Given the description of an element on the screen output the (x, y) to click on. 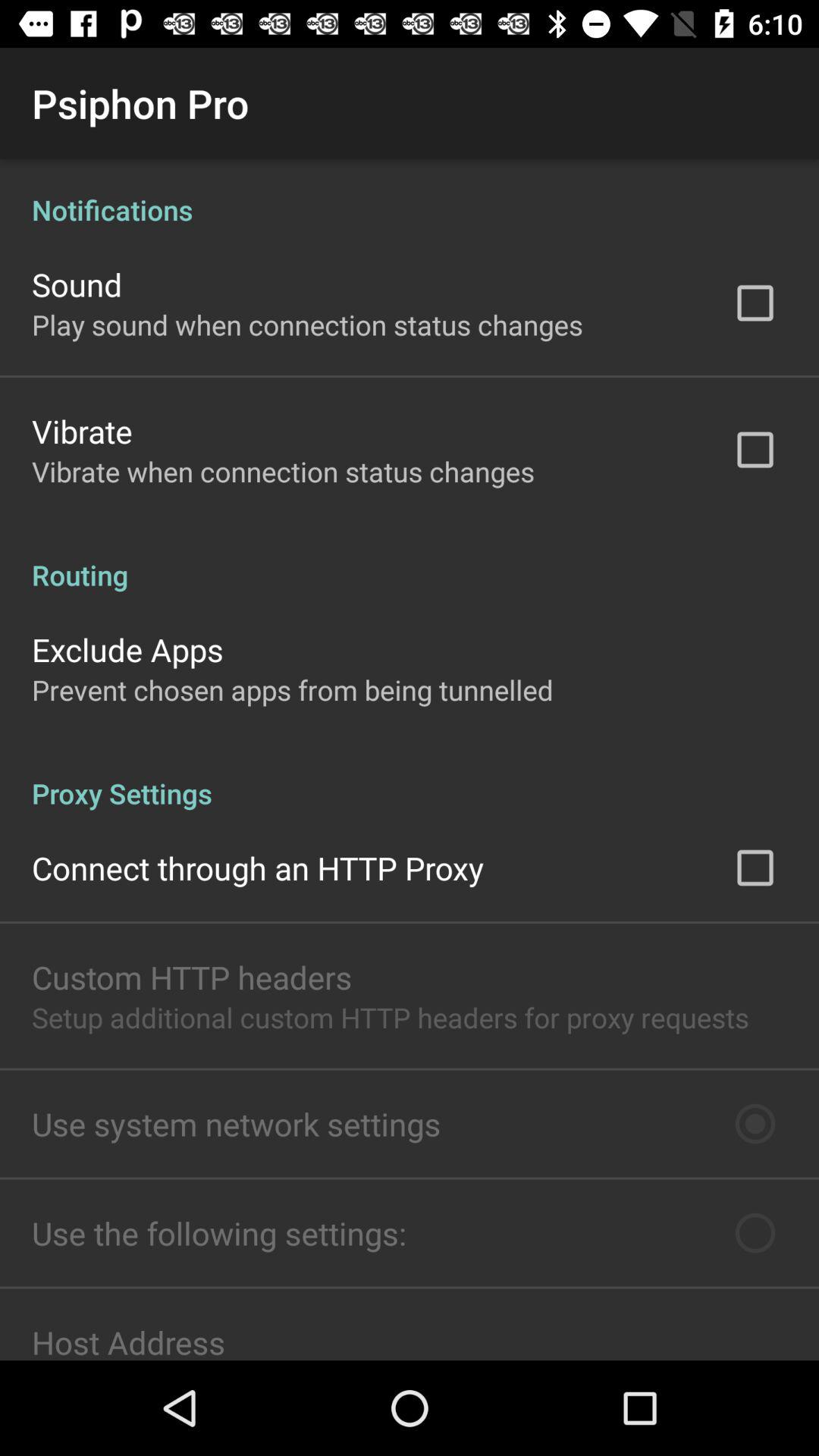
turn on the icon below setup additional custom icon (235, 1123)
